Given the description of an element on the screen output the (x, y) to click on. 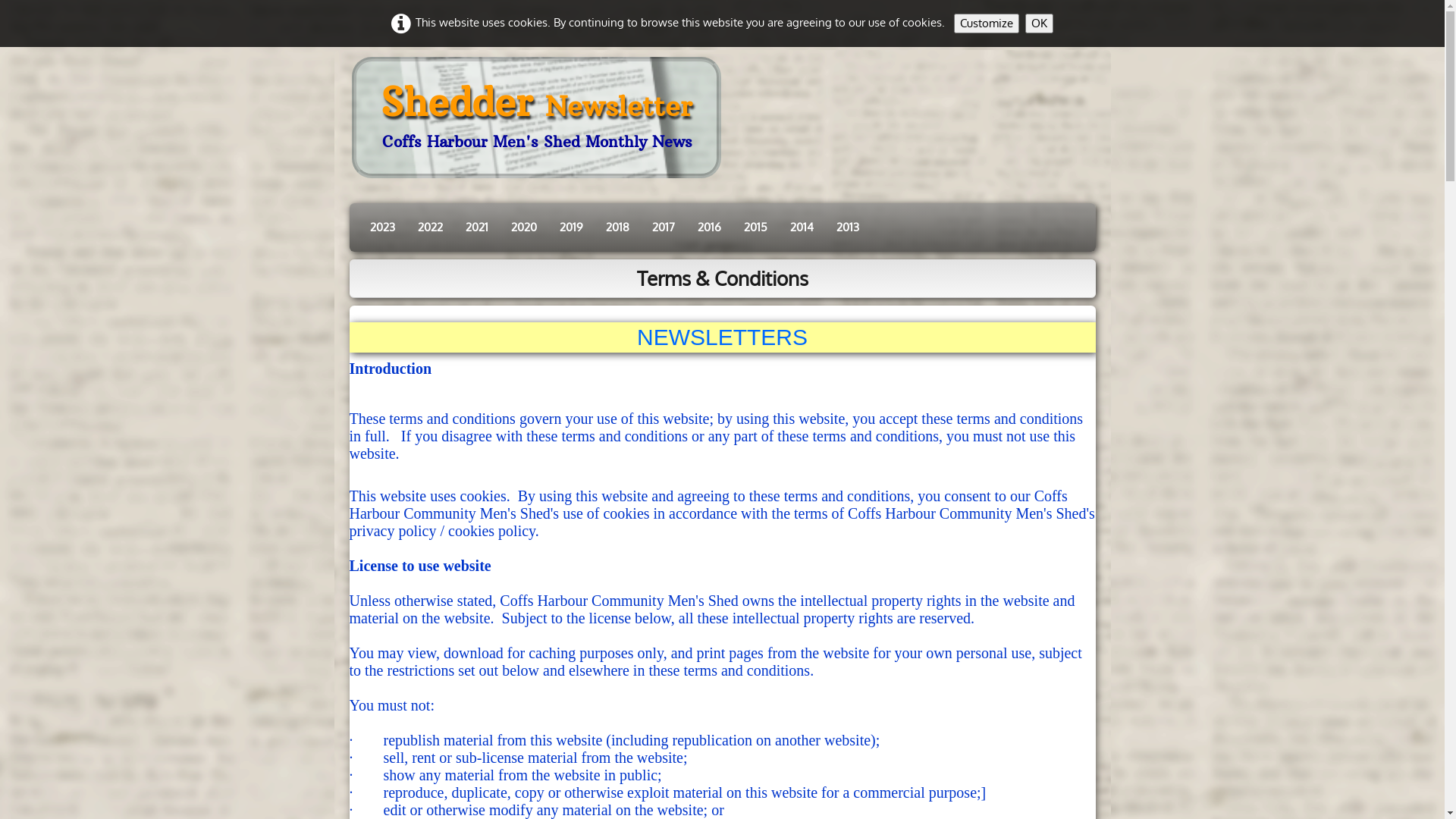
2014 Element type: text (801, 227)
2021 Element type: text (475, 227)
2023 Element type: text (381, 227)
OK Element type: text (1039, 23)
2019 Element type: text (570, 227)
Customize Element type: text (986, 23)
2015 Element type: text (755, 227)
2018 Element type: text (617, 227)
2017 Element type: text (662, 227)
2022 Element type: text (430, 227)
2013 Element type: text (847, 227)
Shedder Newsletter
Coffs Harbour Men's Shed Monthly News Element type: text (536, 117)
2016 Element type: text (708, 227)
2020 Element type: text (522, 227)
